Given the description of an element on the screen output the (x, y) to click on. 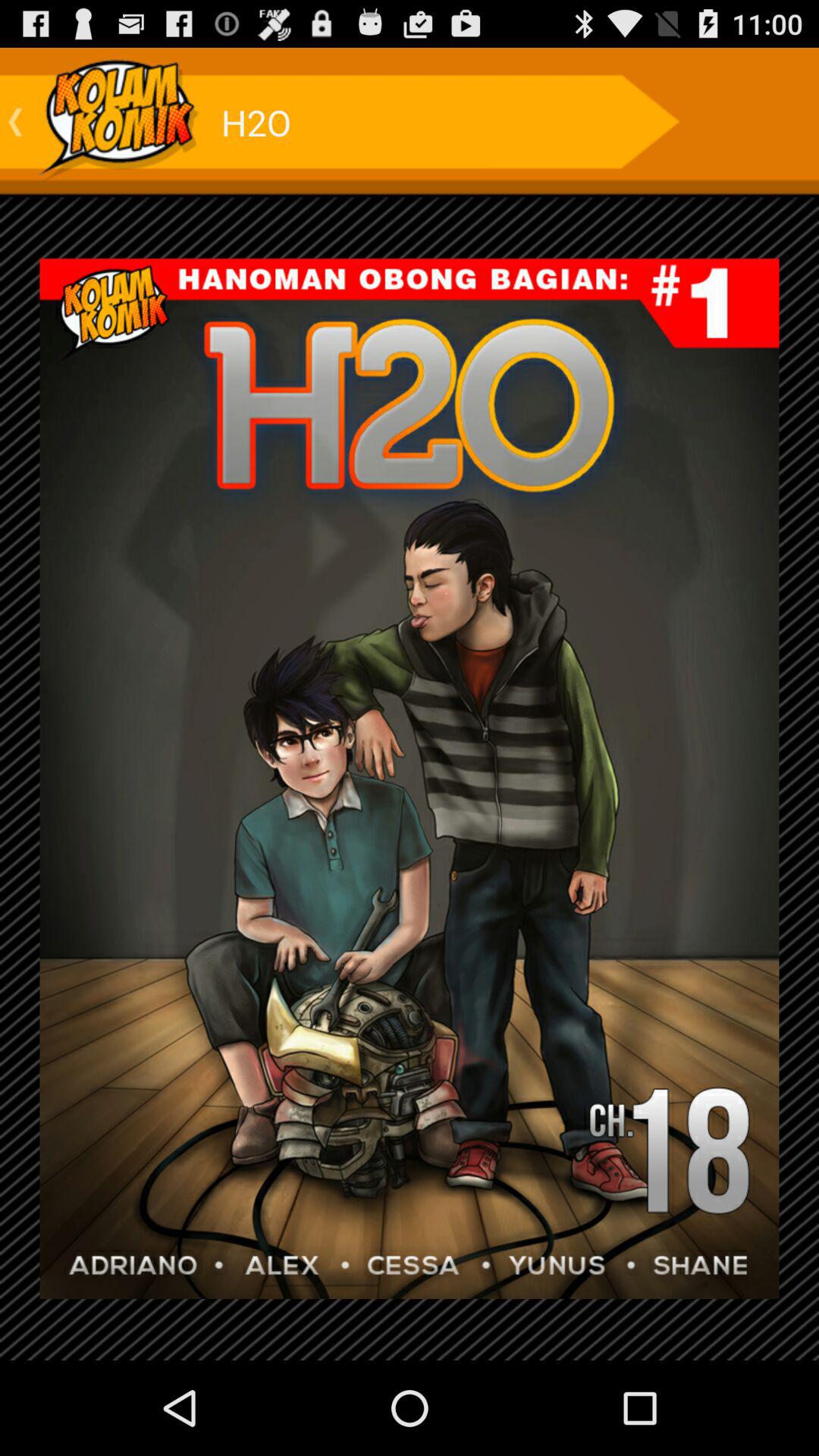
click icon at the center (409, 778)
